Given the description of an element on the screen output the (x, y) to click on. 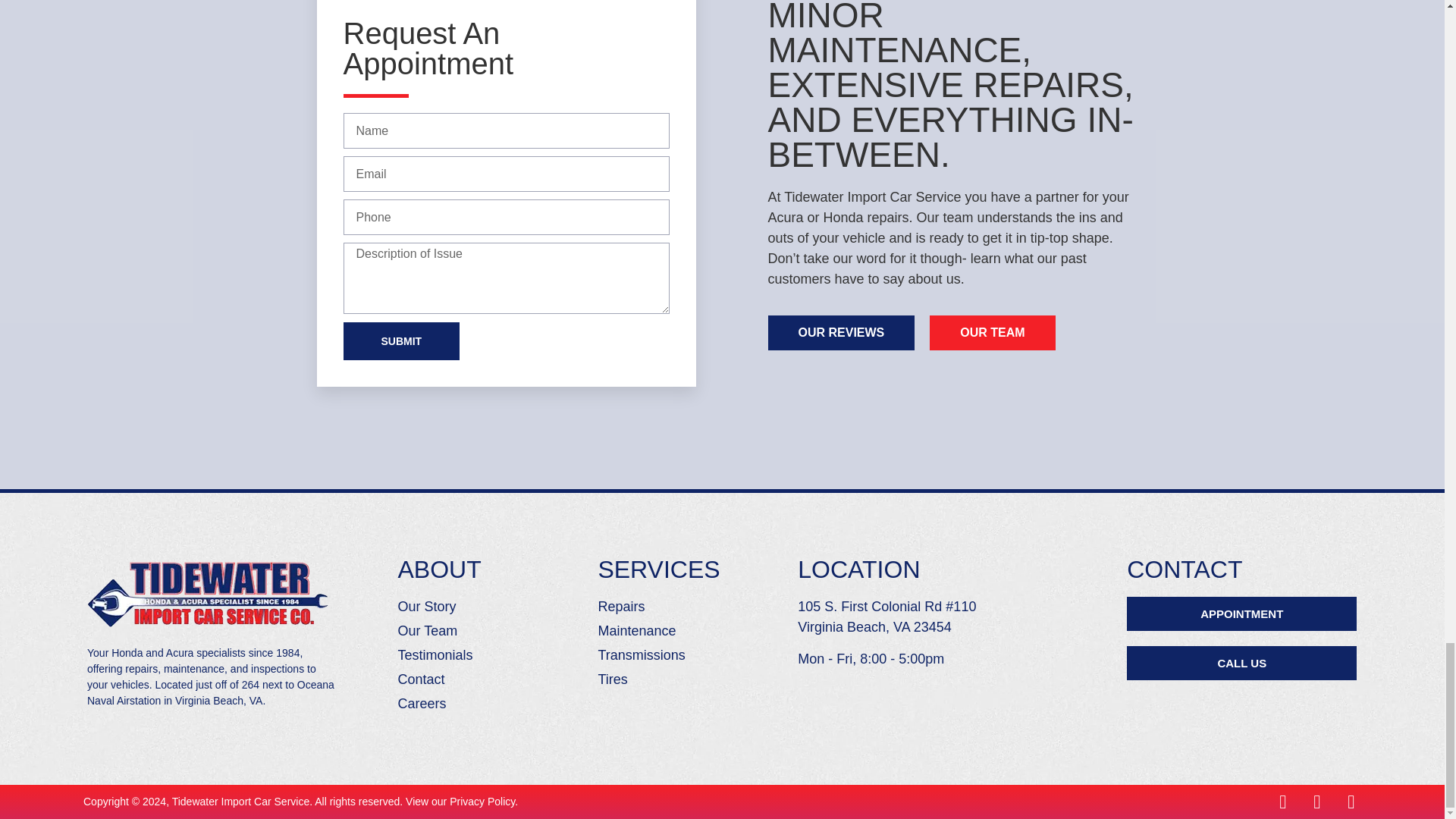
SUBMIT (401, 341)
